Given the description of an element on the screen output the (x, y) to click on. 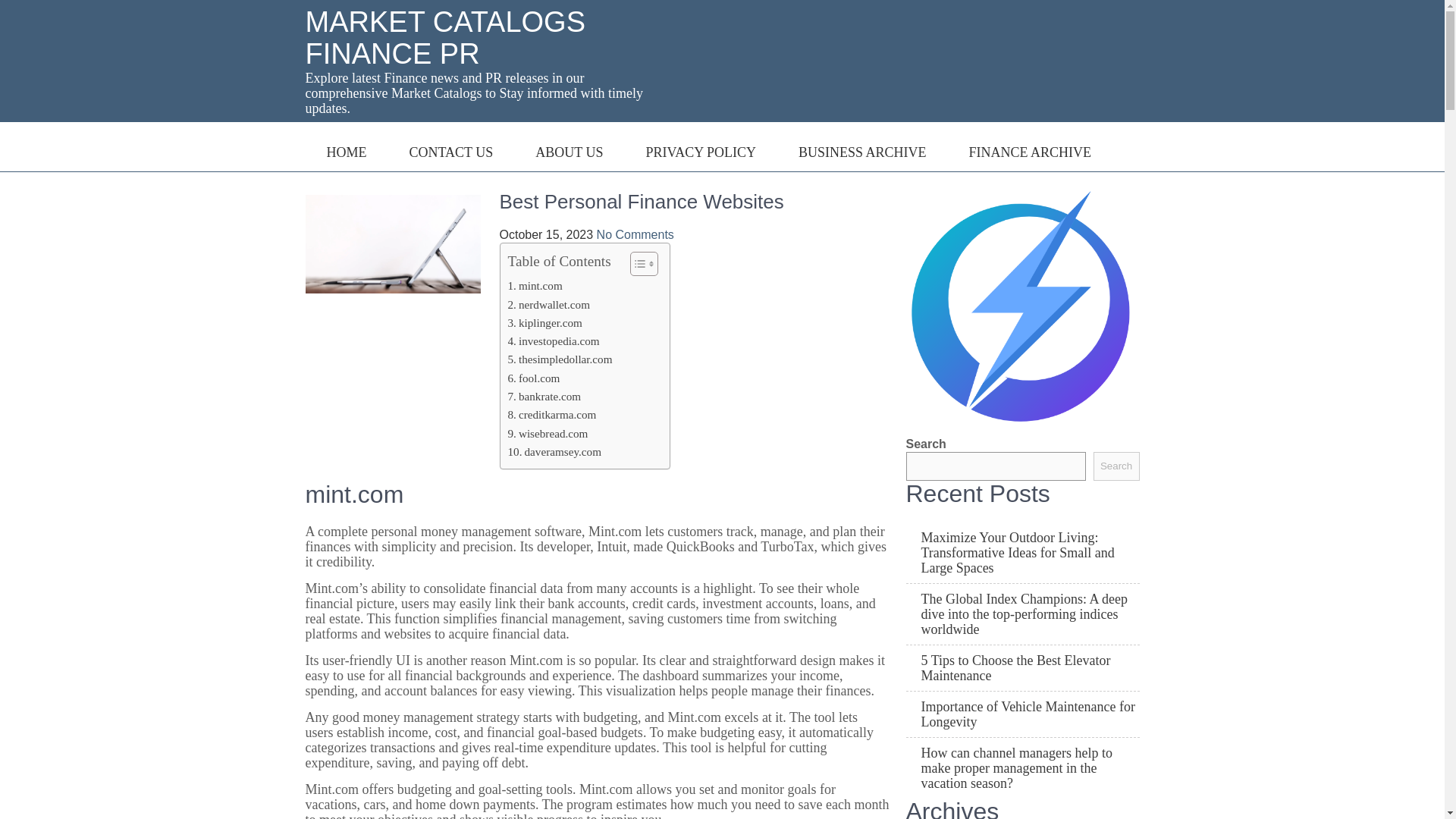
investopedia.com (553, 341)
MARKET CATALOGS FINANCE PR (444, 37)
Importance of Vehicle Maintenance for Longevity (1021, 714)
thesimpledollar.com (560, 359)
BUSINESS ARCHIVE (862, 146)
No Comments (635, 234)
Search (1116, 466)
nerdwallet.com (548, 304)
fool.com (534, 378)
